Given the description of an element on the screen output the (x, y) to click on. 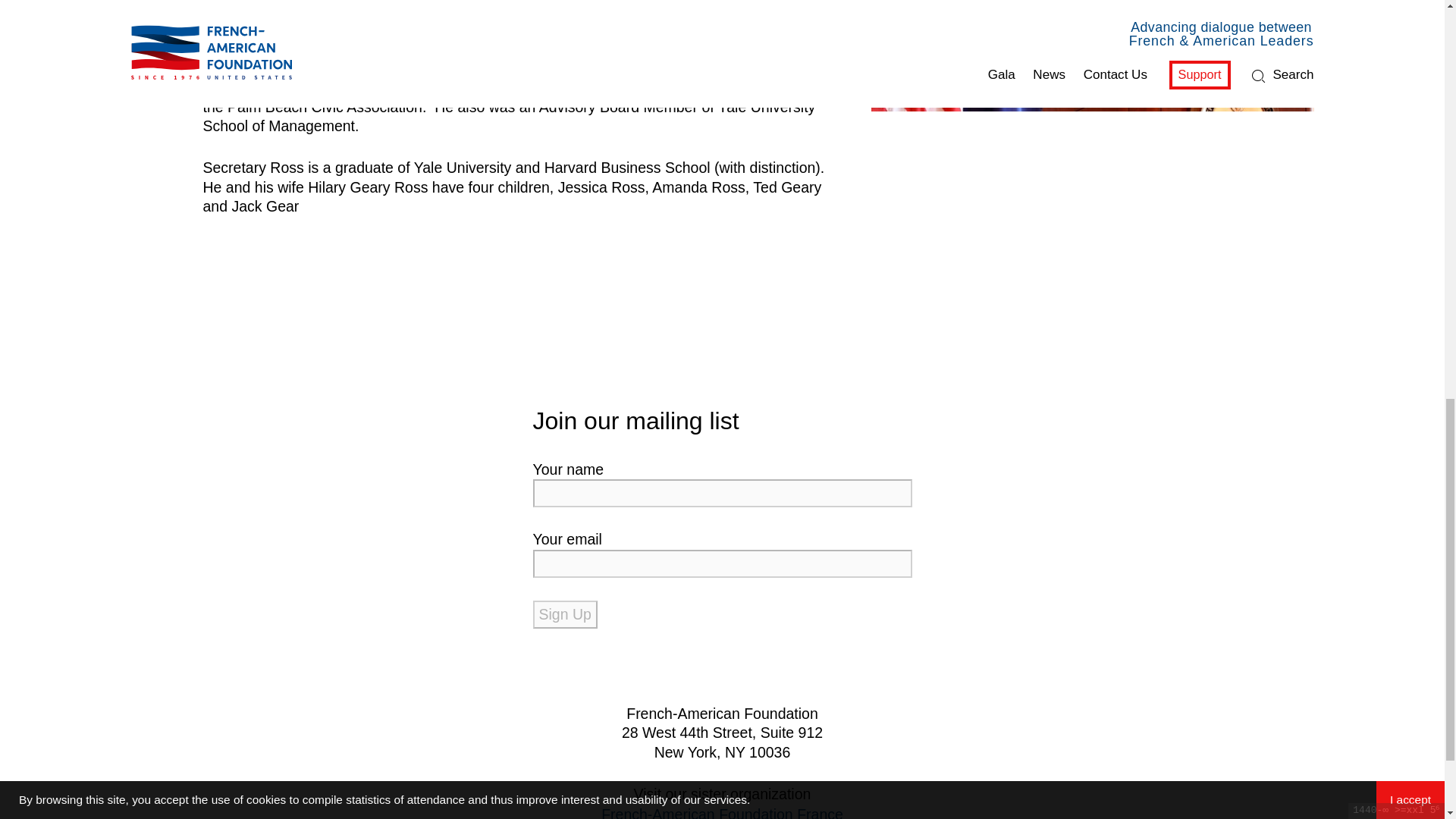
Sign Up (564, 614)
